Given the description of an element on the screen output the (x, y) to click on. 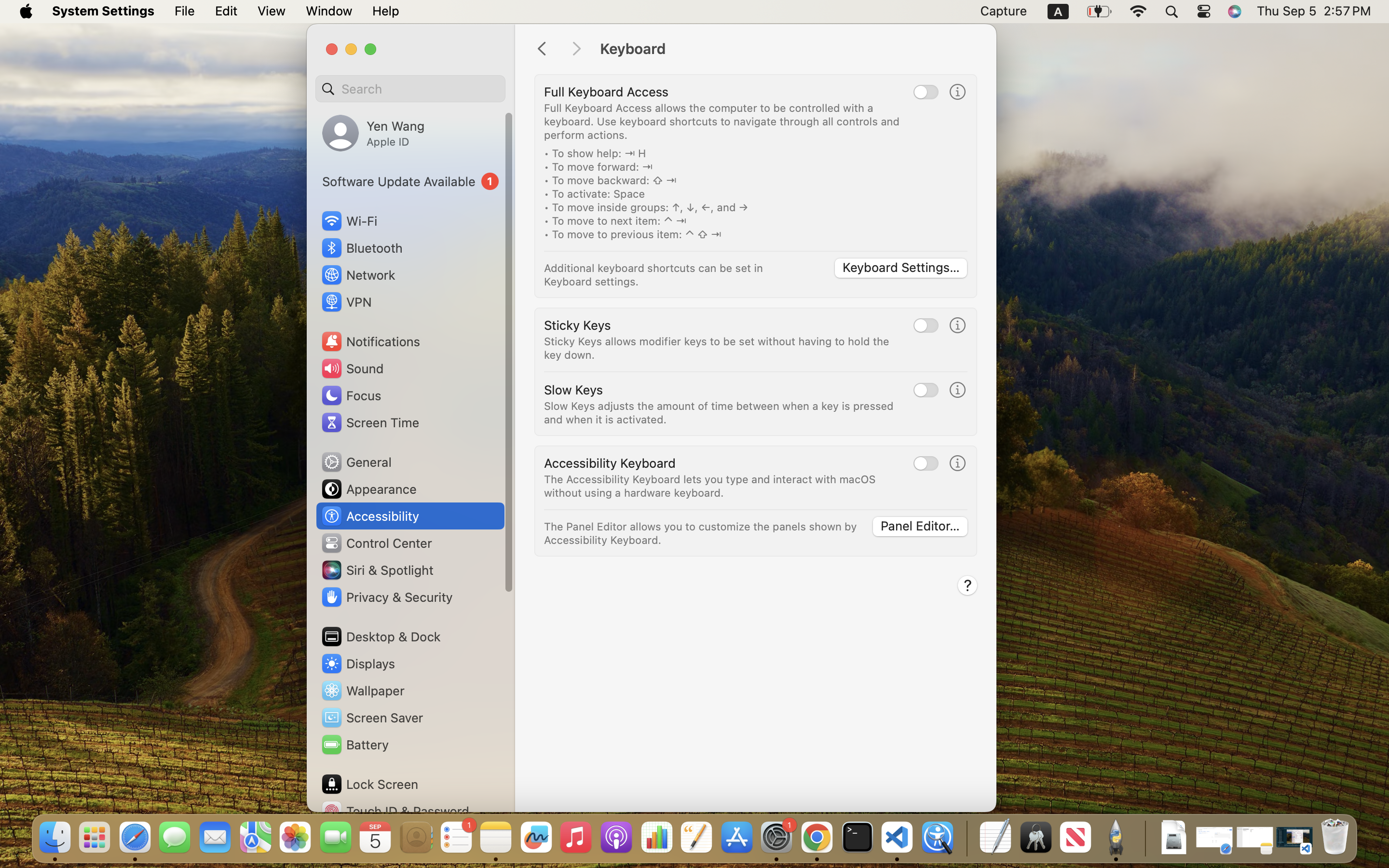
The Panel Editor allows you to customize the panels shown by Accessibility Keyboard. Element type: AXStaticText (702, 532)
Desktop & Dock Element type: AXStaticText (380, 636)
Sticky Keys allows modifier keys to be set without having to hold the key down. Element type: AXStaticText (718, 347)
Wallpaper Element type: AXStaticText (362, 690)
0.4285714328289032 Element type: AXDockItem (965, 837)
